Given the description of an element on the screen output the (x, y) to click on. 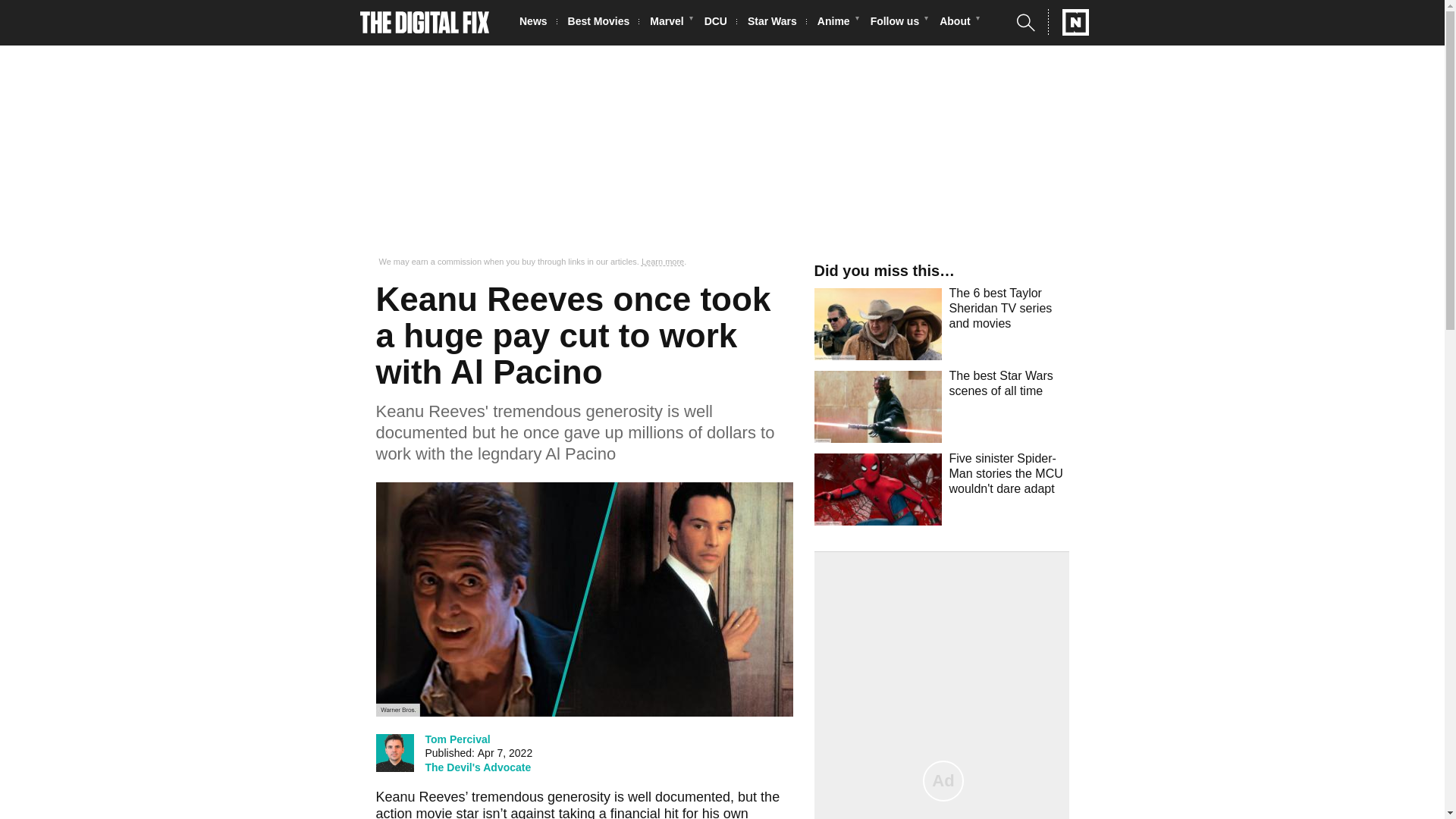
The Devil's Advocate (478, 767)
Anime (837, 22)
Marvel (671, 22)
Marvel Cinematic Universe News (671, 22)
Star Wars News (777, 22)
Follow us (899, 22)
Best Movies (603, 22)
Tom Percival (457, 739)
Learn more (663, 261)
The Digital Fix (424, 22)
